Given the description of an element on the screen output the (x, y) to click on. 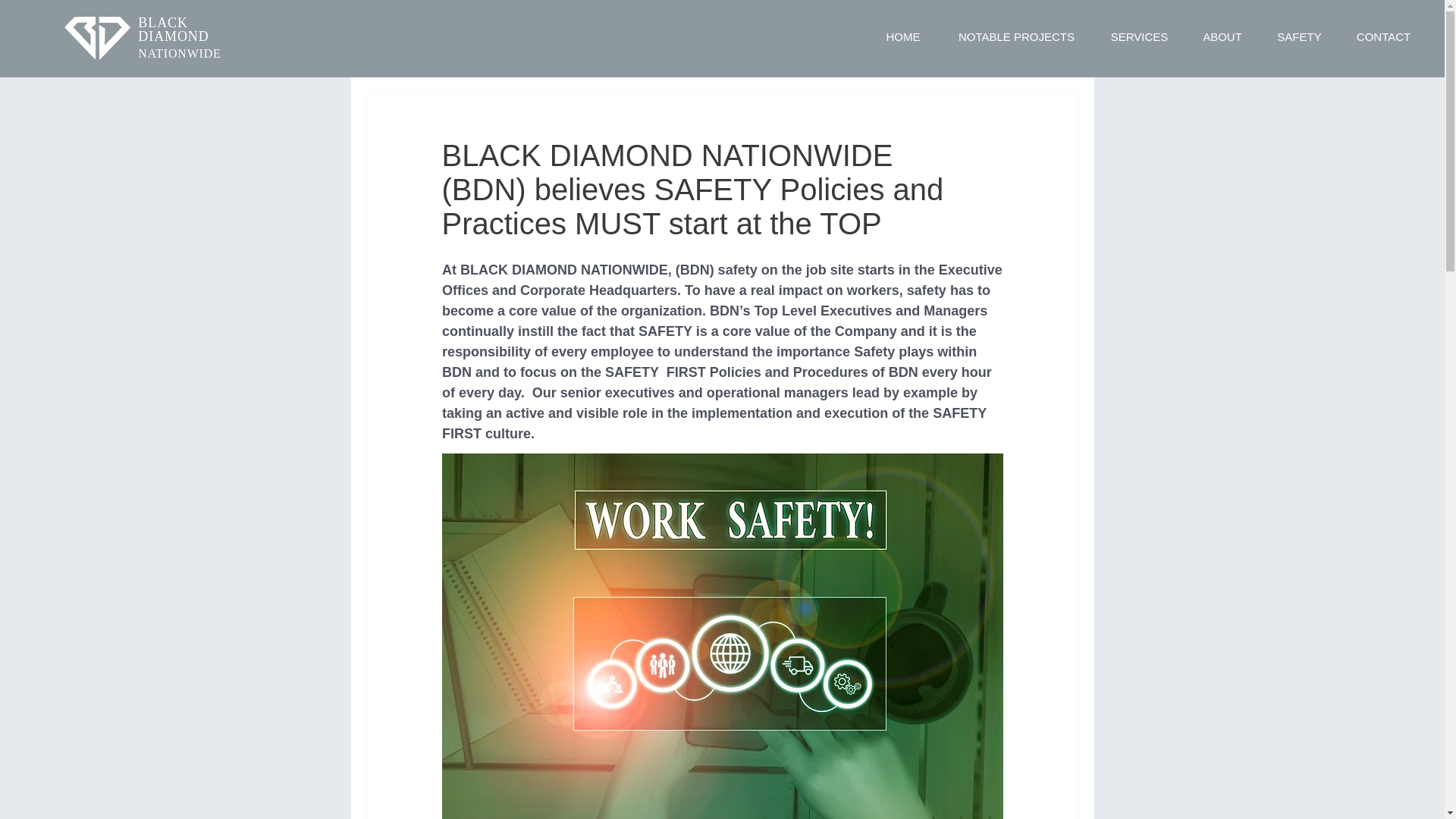
ABOUT (1222, 36)
NOTABLE PROJECTS (1016, 36)
CONTACT (1383, 36)
BLACK DIAMOND (173, 29)
NATIONWIDE (179, 52)
HOME (903, 36)
SAFETY (1299, 36)
